Given the description of an element on the screen output the (x, y) to click on. 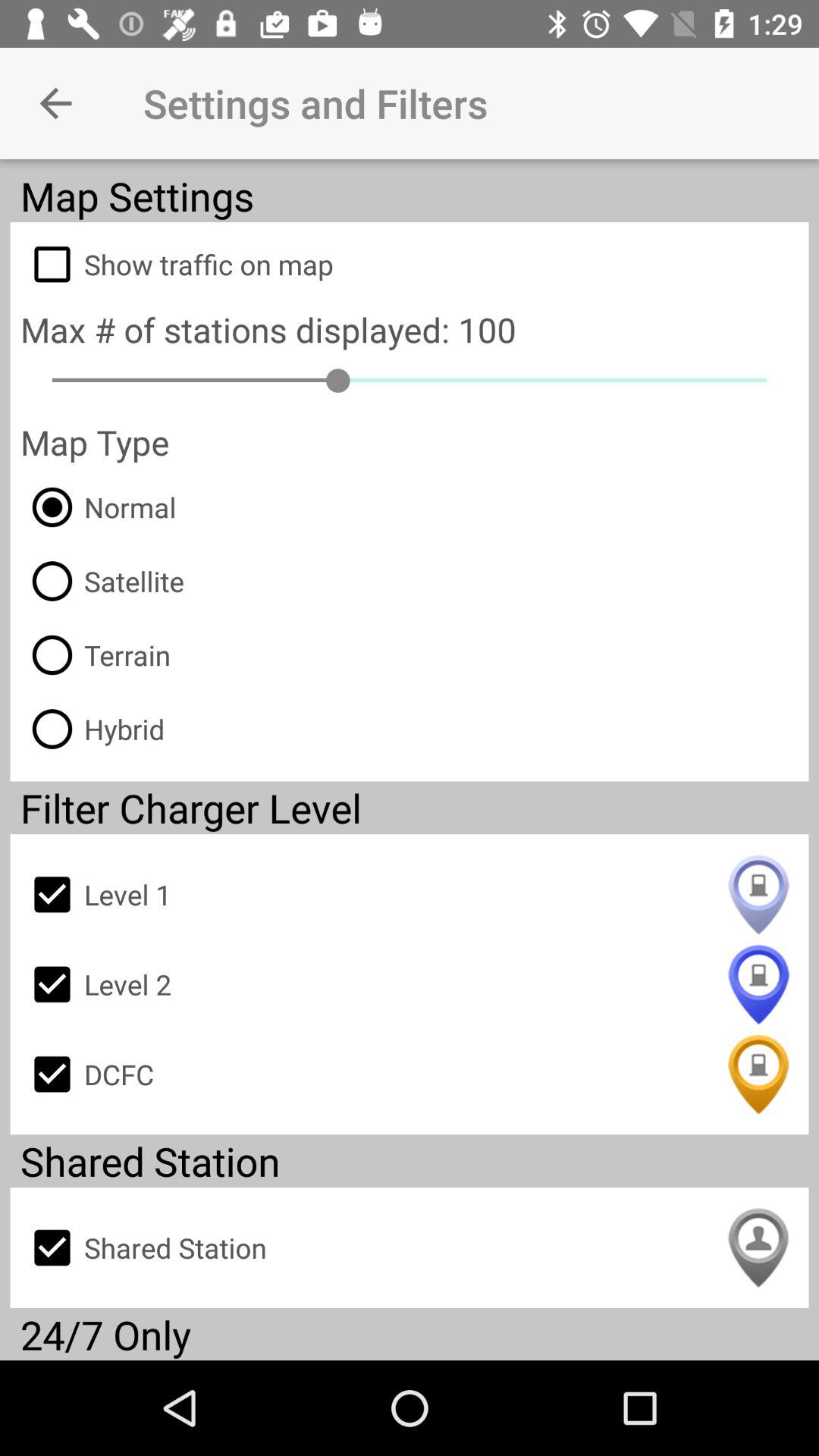
jump to the level 1 item (409, 894)
